Given the description of an element on the screen output the (x, y) to click on. 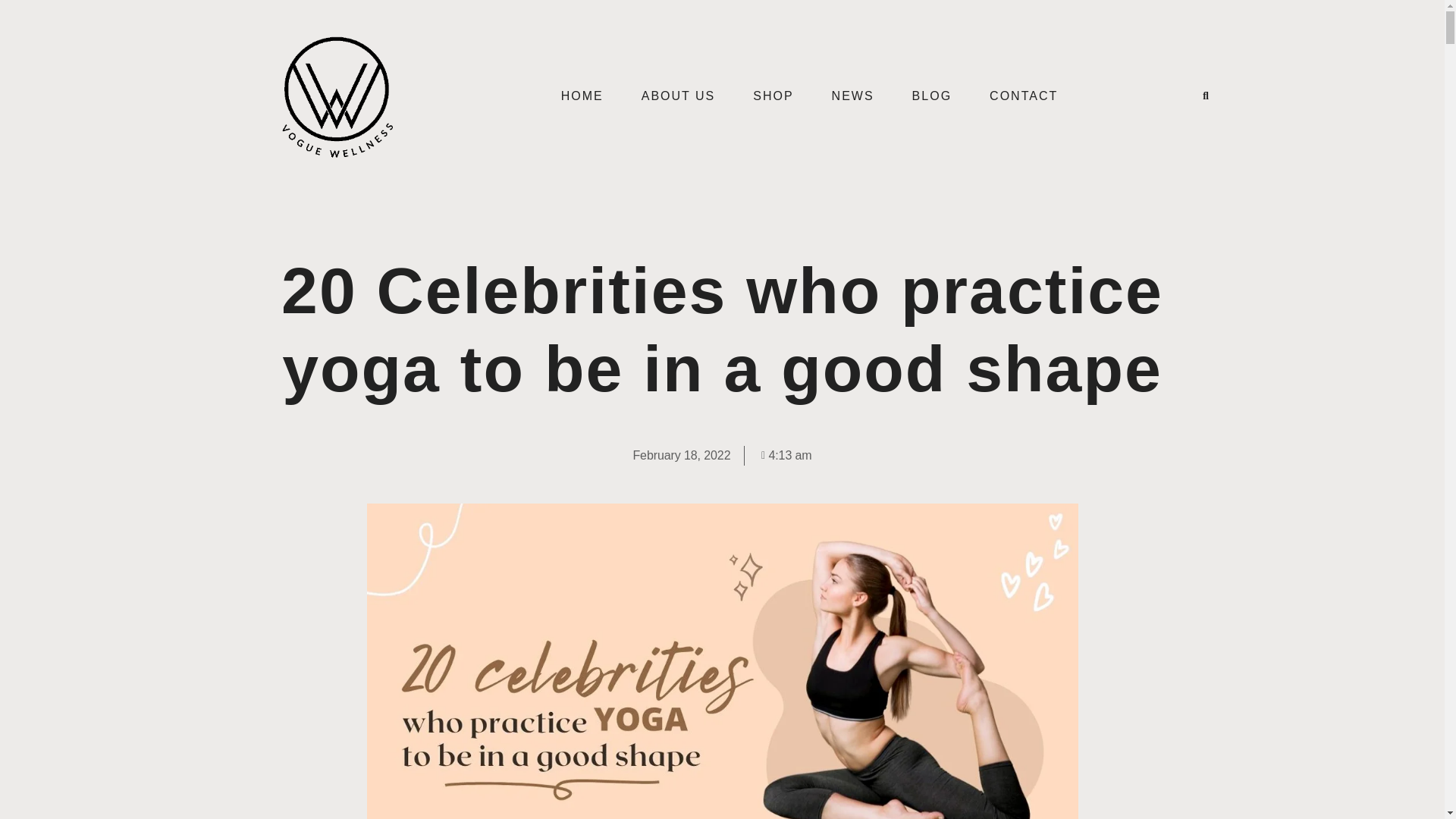
ABOUT US (679, 95)
SHOP (772, 95)
CONTACT (1024, 95)
HOME (582, 95)
BLOG (932, 95)
NEWS (853, 95)
